Given the description of an element on the screen output the (x, y) to click on. 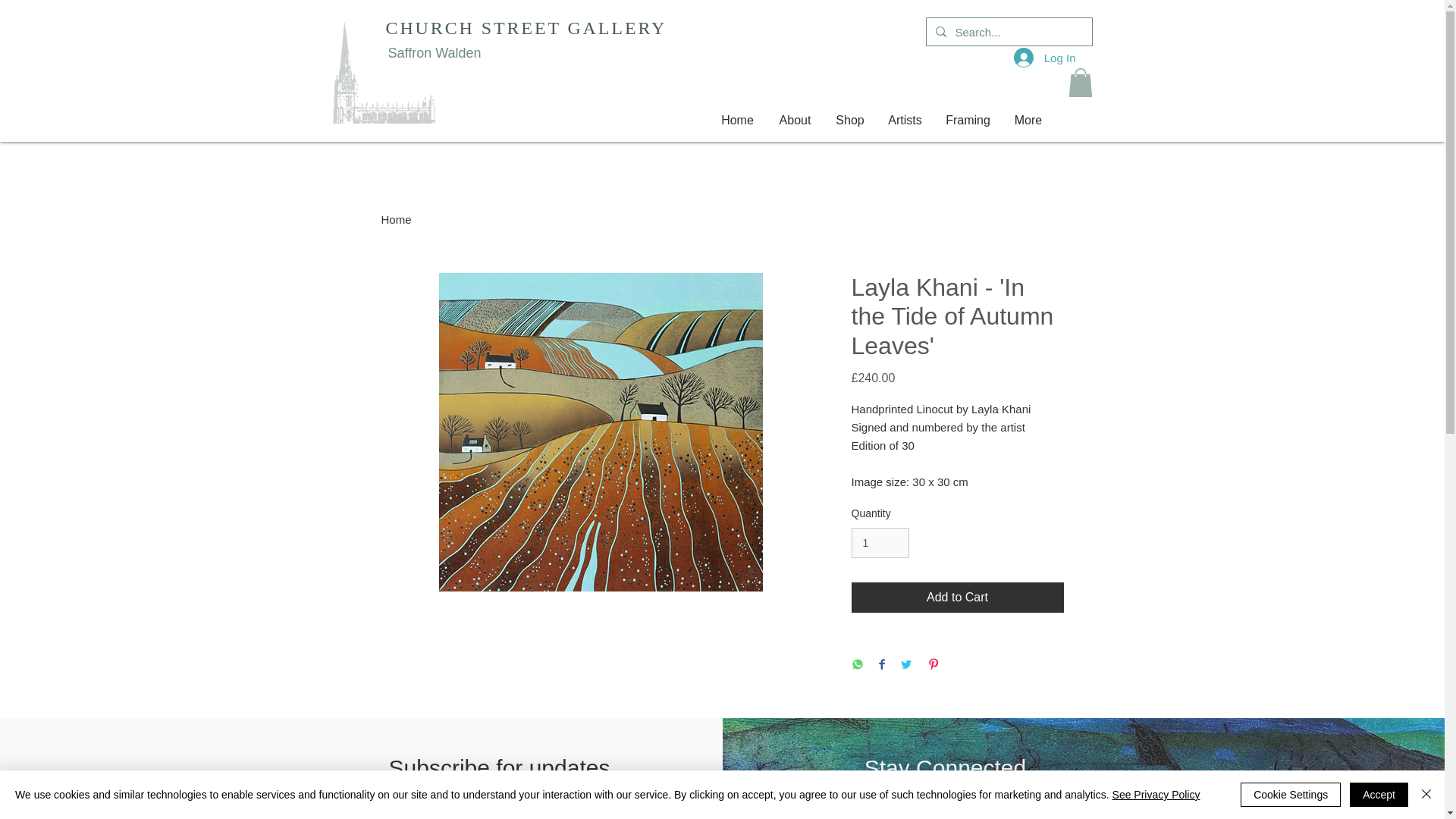
Home (395, 219)
Add to Cart (956, 597)
About (794, 120)
Artists (905, 120)
Framing (968, 120)
1 (879, 542)
Home (736, 120)
Log In (1044, 57)
